Given the description of an element on the screen output the (x, y) to click on. 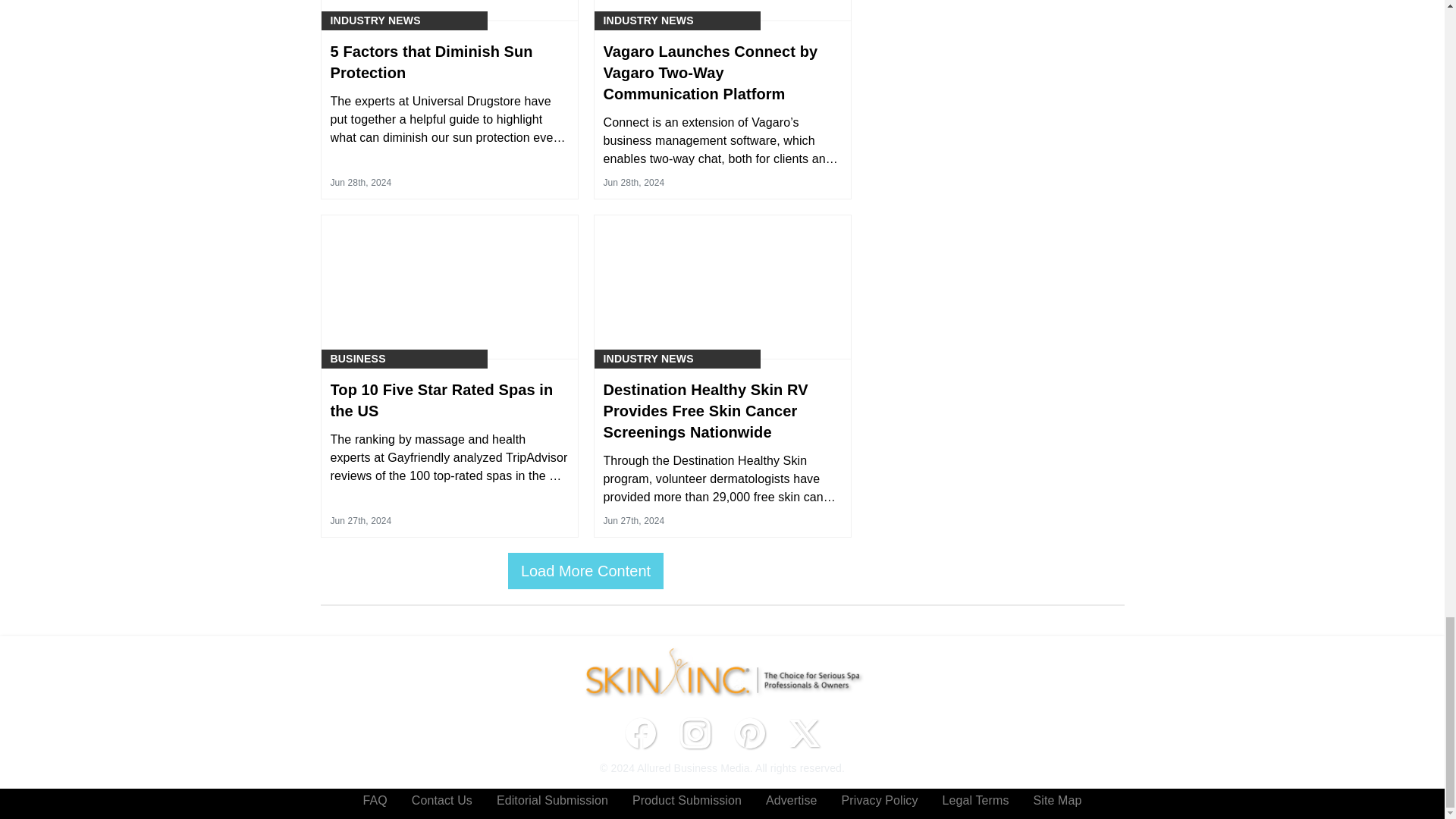
Facebook icon (639, 733)
Instagram icon (694, 733)
Twitter X icon (803, 733)
Pinterest icon (748, 733)
